Given the description of an element on the screen output the (x, y) to click on. 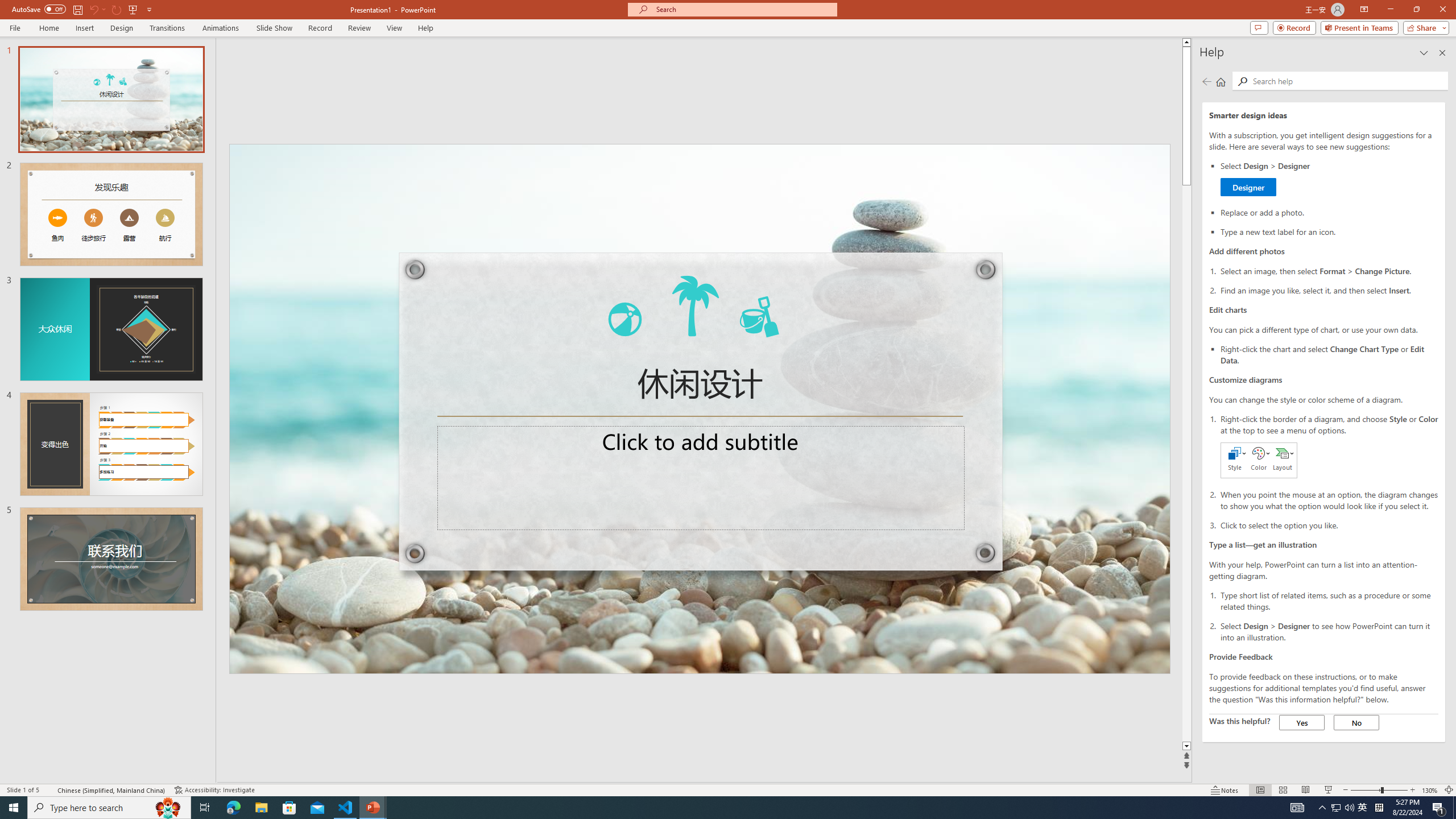
Yes (1301, 722)
